Given the description of an element on the screen output the (x, y) to click on. 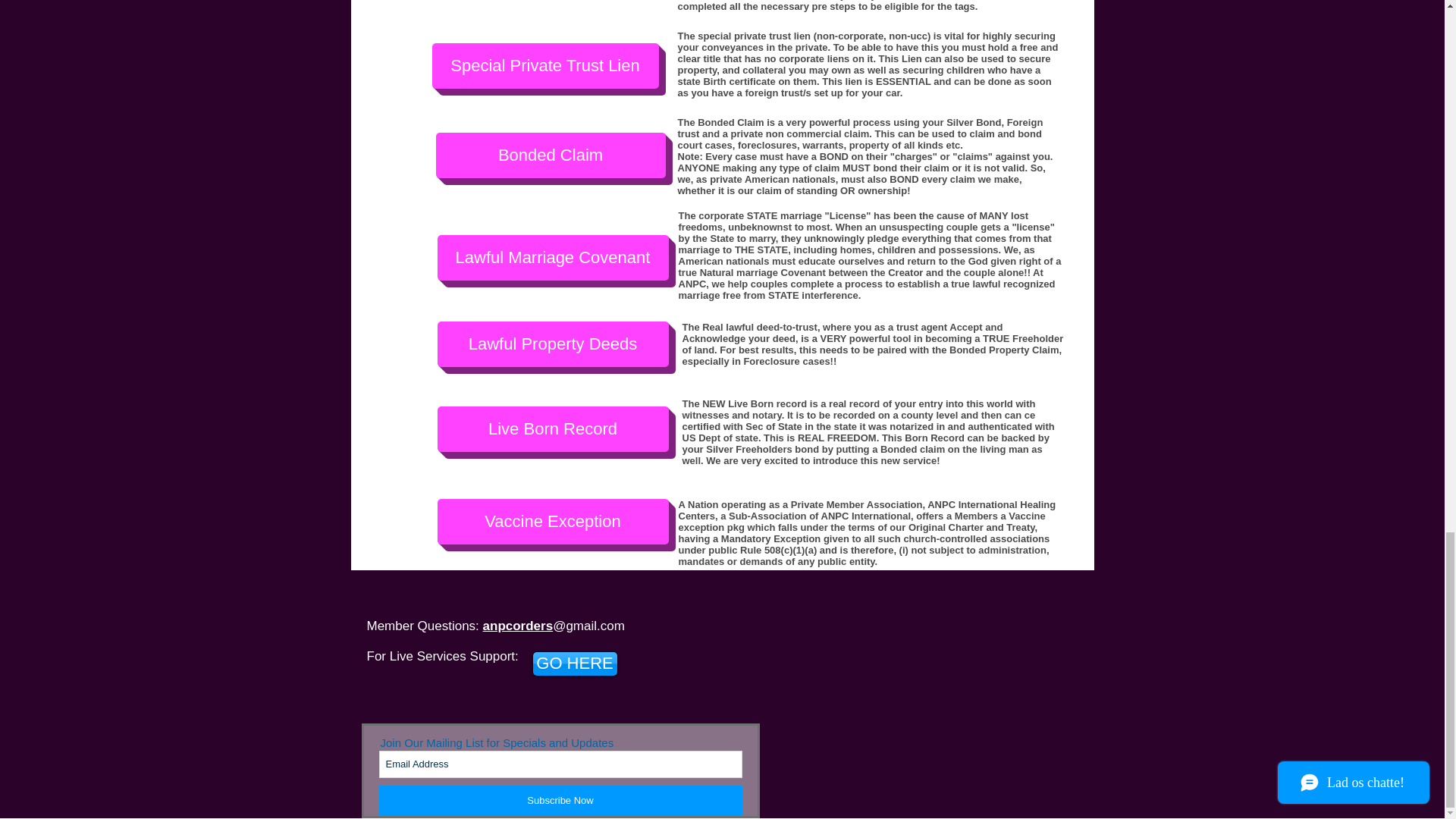
Lawful Marriage Covenant (552, 257)
GO HERE (573, 663)
Subscribe Now (560, 800)
Lawful Property Deeds (552, 343)
Vaccine Exception (552, 521)
Bonded Claim (550, 155)
Live Born Record (552, 429)
Special Private Trust Lien (545, 65)
